Given the description of an element on the screen output the (x, y) to click on. 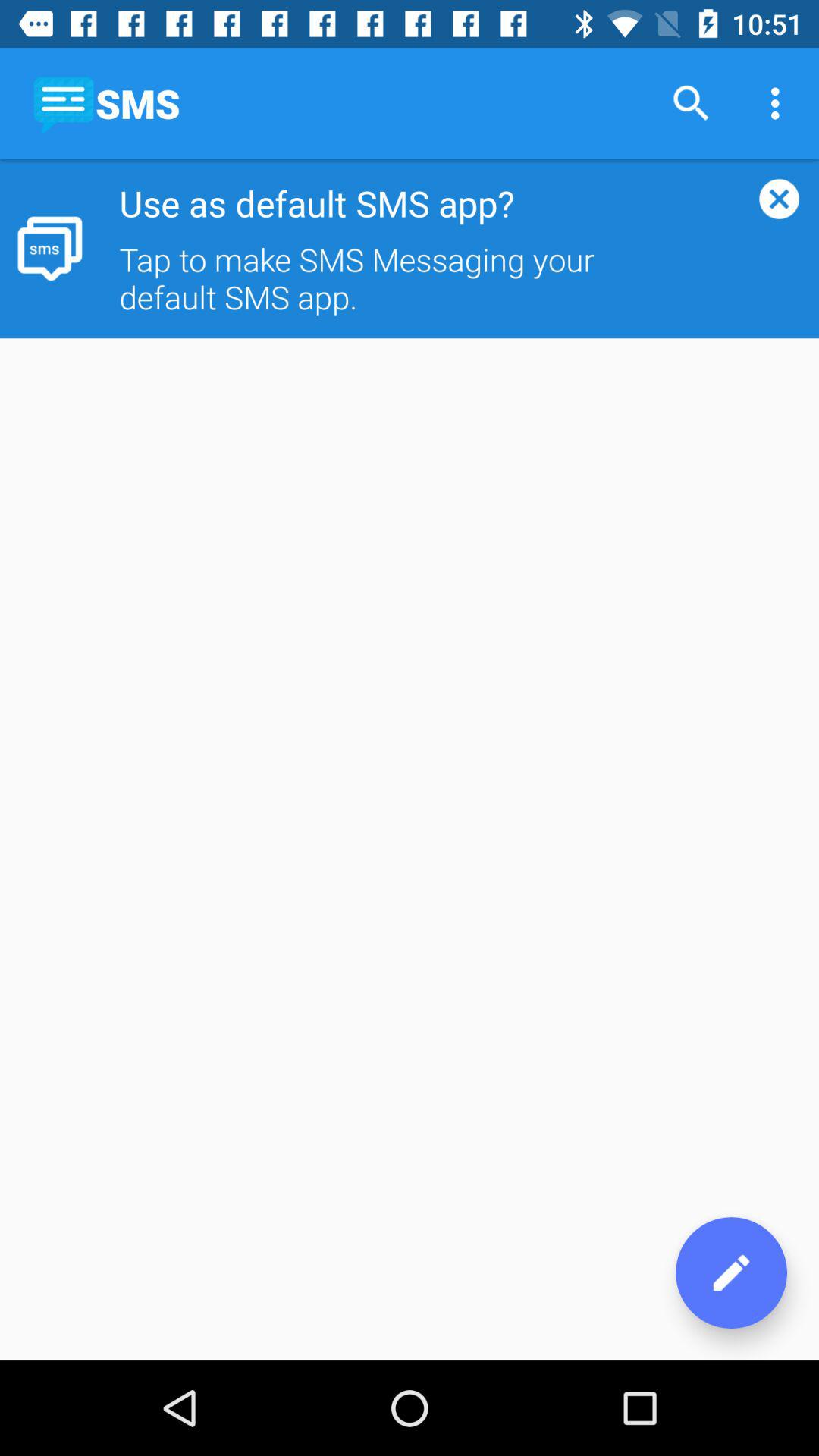
turn on item next to sms icon (691, 103)
